Given the description of an element on the screen output the (x, y) to click on. 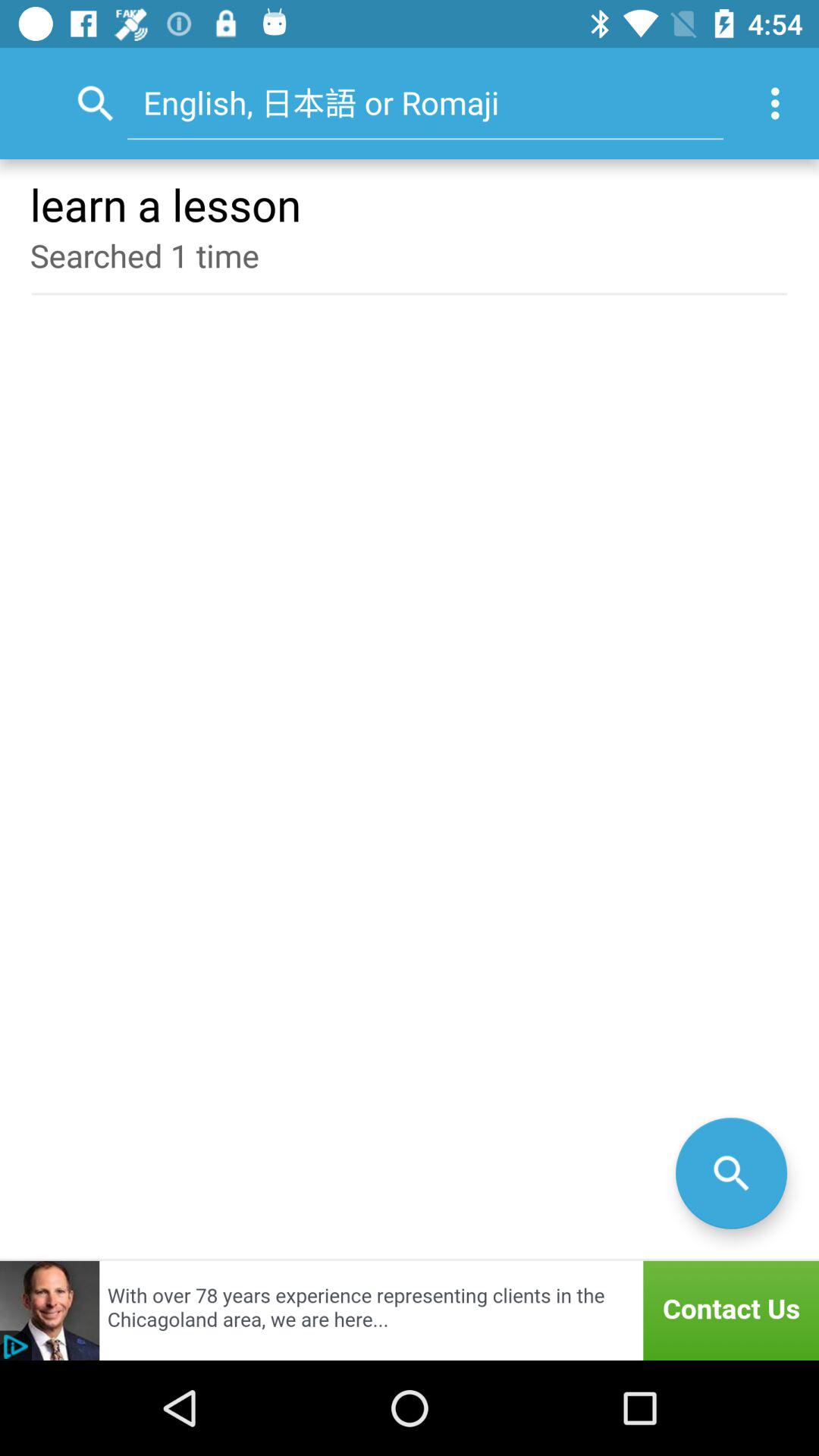
tap the item above learn a lesson item (425, 102)
